Given the description of an element on the screen output the (x, y) to click on. 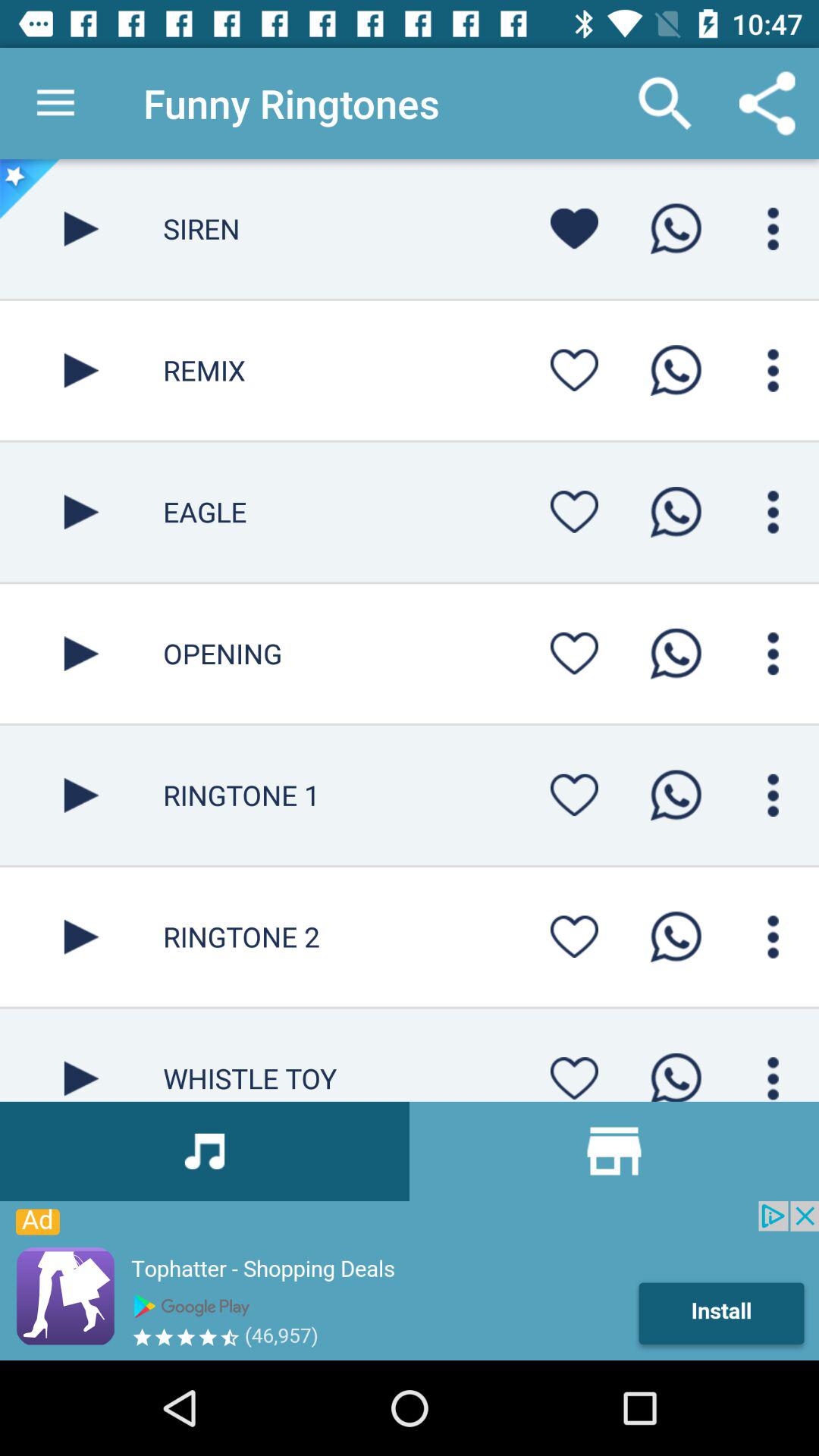
play button (81, 1054)
